Given the description of an element on the screen output the (x, y) to click on. 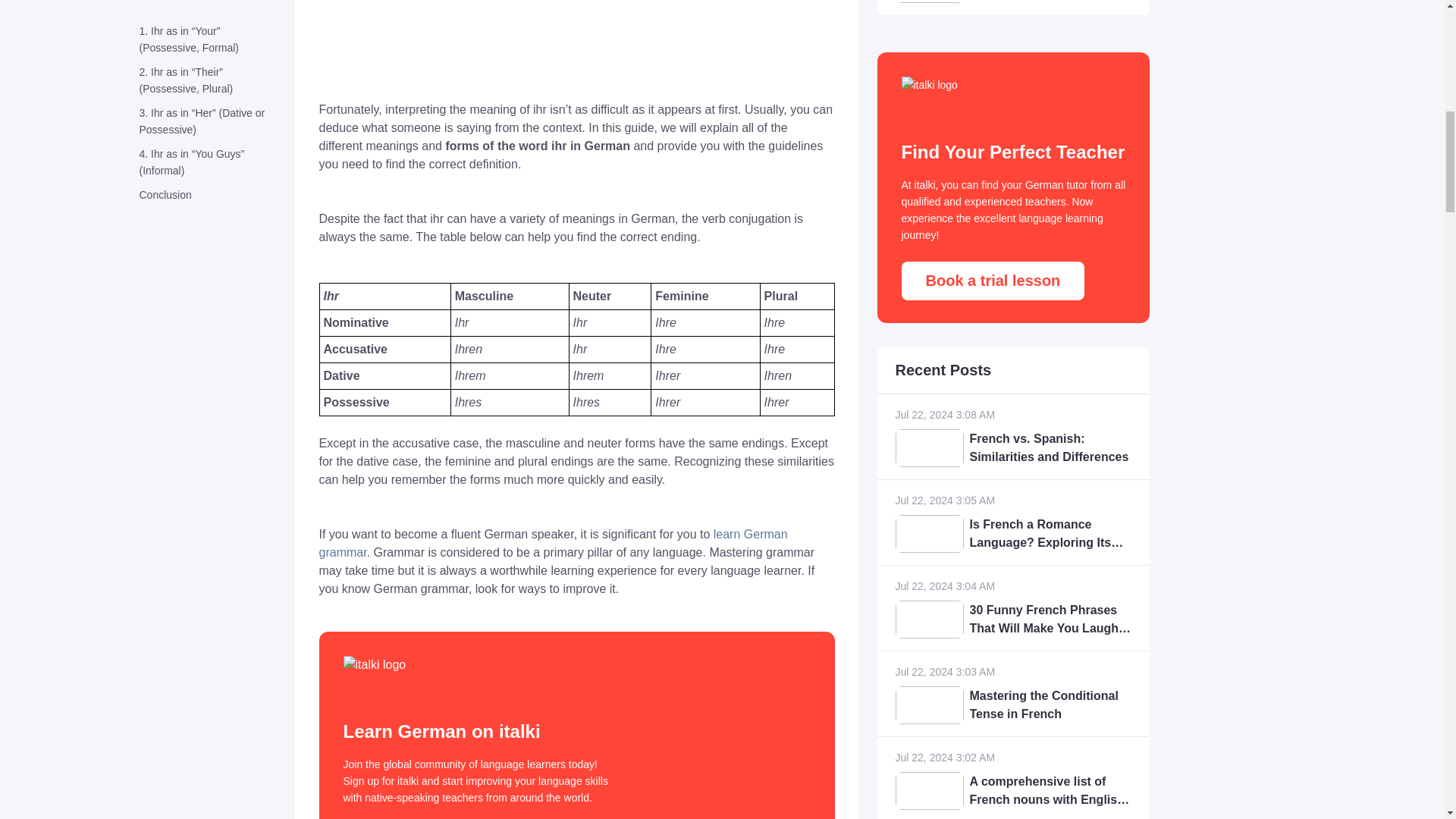
Book a trial lesson (992, 280)
Speak German Like a Native speaker in 5 Minutes! (507, 41)
learn German grammar (552, 542)
